Given the description of an element on the screen output the (x, y) to click on. 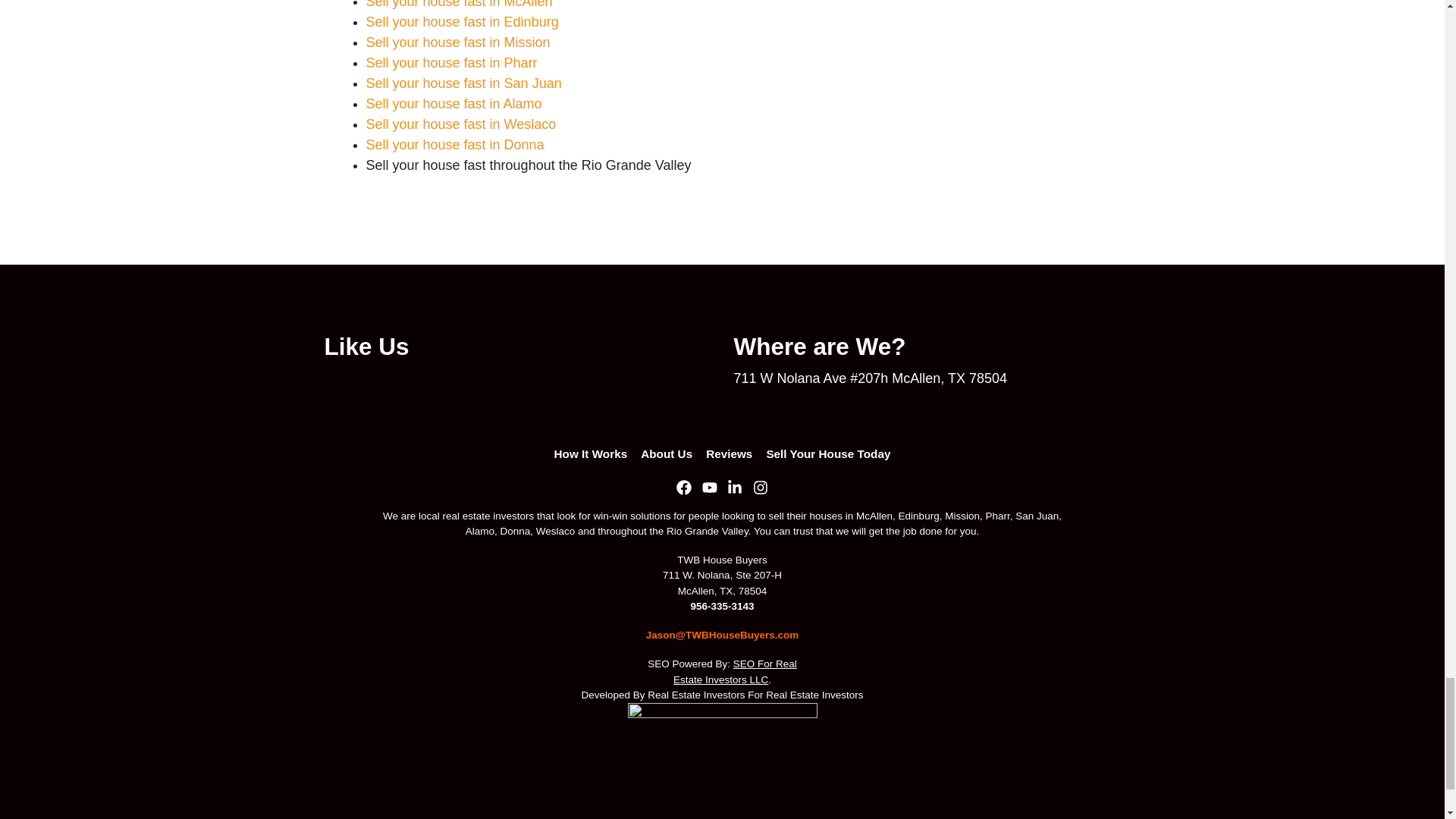
Sell your house fast in San Juan (462, 83)
Sell your house fast in Weslaco (460, 124)
Sell your house fast in Alamo (453, 103)
Sell your house fast in Mission (457, 42)
Sell your house fast in McAllen (458, 4)
Sell your house fast in Pharr (451, 62)
Sell your house fast in Donna (454, 144)
Sell your house fast in Edinburg (461, 21)
